Given the description of an element on the screen output the (x, y) to click on. 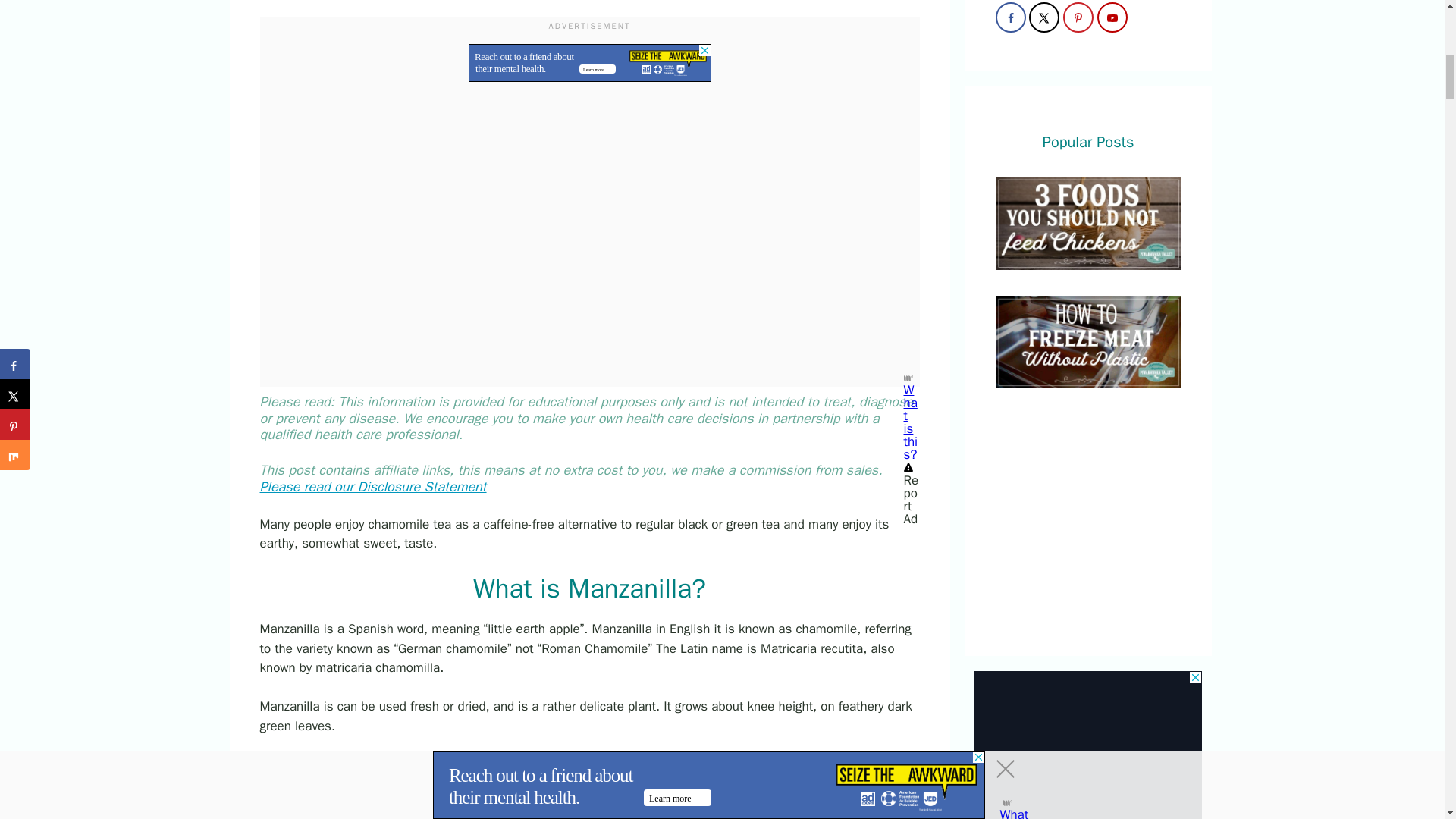
Follow on YouTube (1111, 17)
Follow on Facebook (1009, 17)
Follow on Pinterest (1077, 17)
Follow on X (1044, 17)
3rd party ad content (589, 62)
3rd party ad content (589, 800)
